Given the description of an element on the screen output the (x, y) to click on. 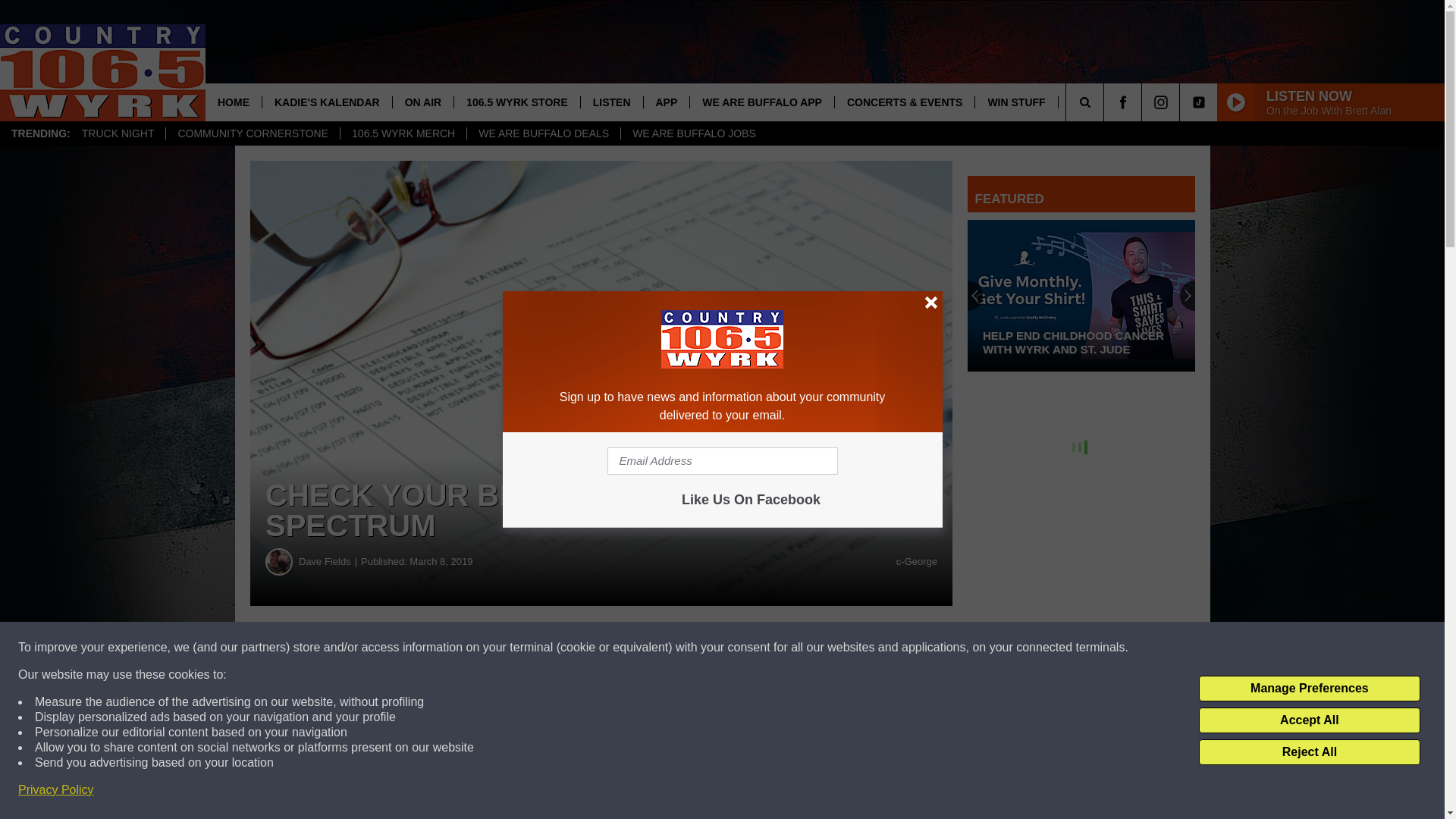
WE ARE BUFFALO JOBS (693, 133)
TRUCK NIGHT (117, 133)
Accept All (1309, 720)
KADIE'S KALENDAR (326, 102)
SEARCH (1106, 102)
WIN STUFF (1015, 102)
Email Address (722, 461)
ON AIR (421, 102)
SEARCH (1106, 102)
COMMUNITY CORNERSTONE (252, 133)
Manage Preferences (1309, 688)
Reject All (1309, 751)
WE ARE BUFFALO DEALS (542, 133)
106.5 WYRK STORE (515, 102)
Privacy Policy (55, 789)
